Given the description of an element on the screen output the (x, y) to click on. 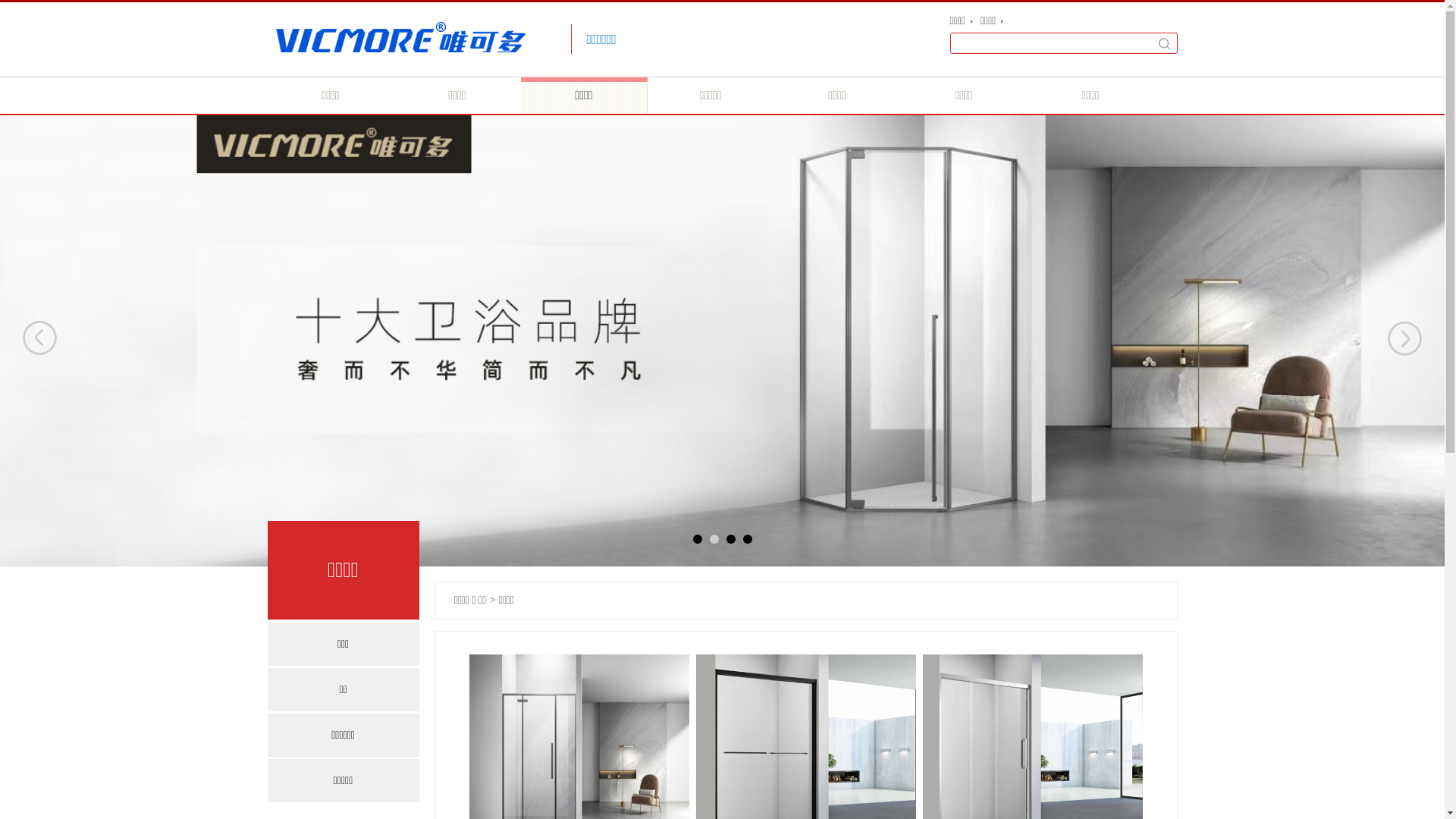
  Element type: text (1163, 43)
